Given the description of an element on the screen output the (x, y) to click on. 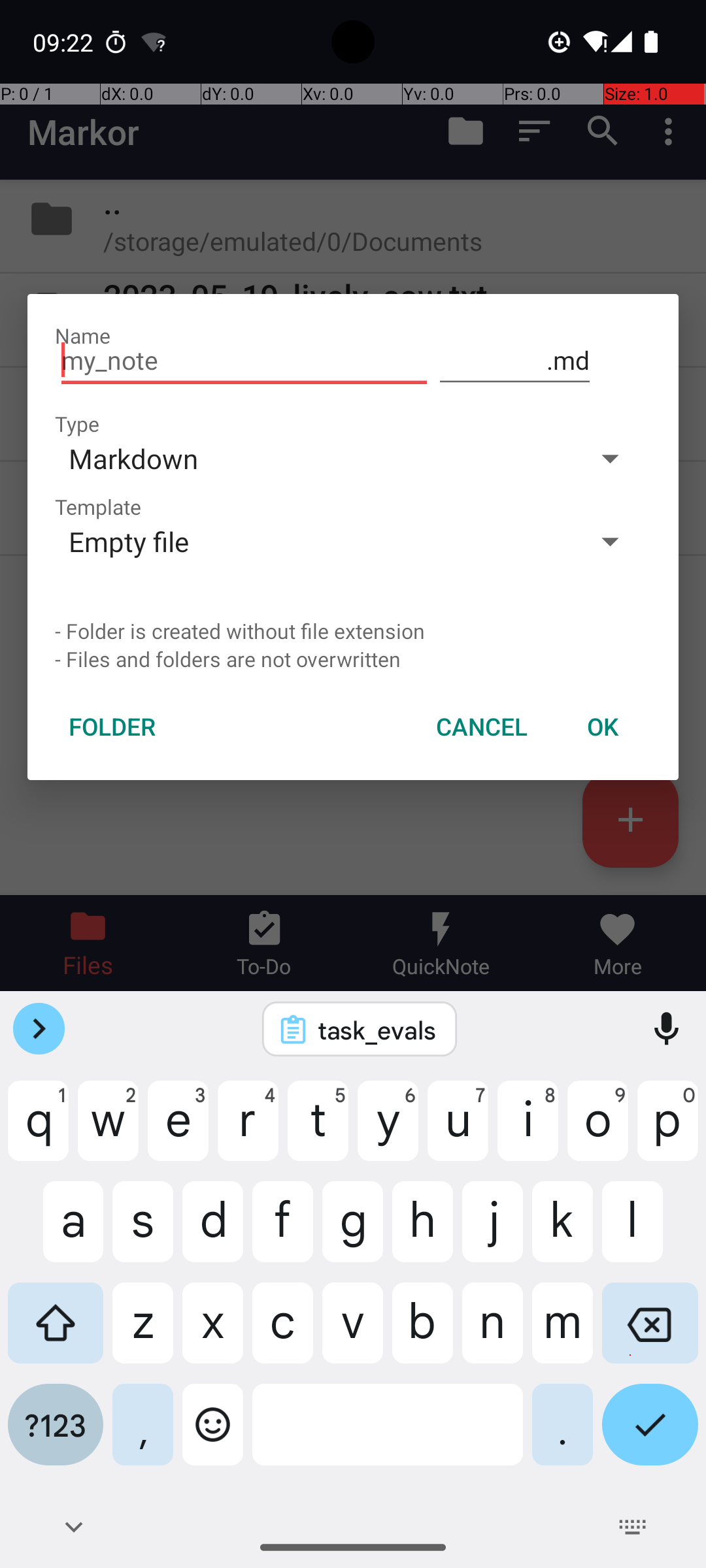
task_evals Element type: android.widget.TextView (376, 1029)
09:22 Element type: android.widget.TextView (64, 41)
